Given the description of an element on the screen output the (x, y) to click on. 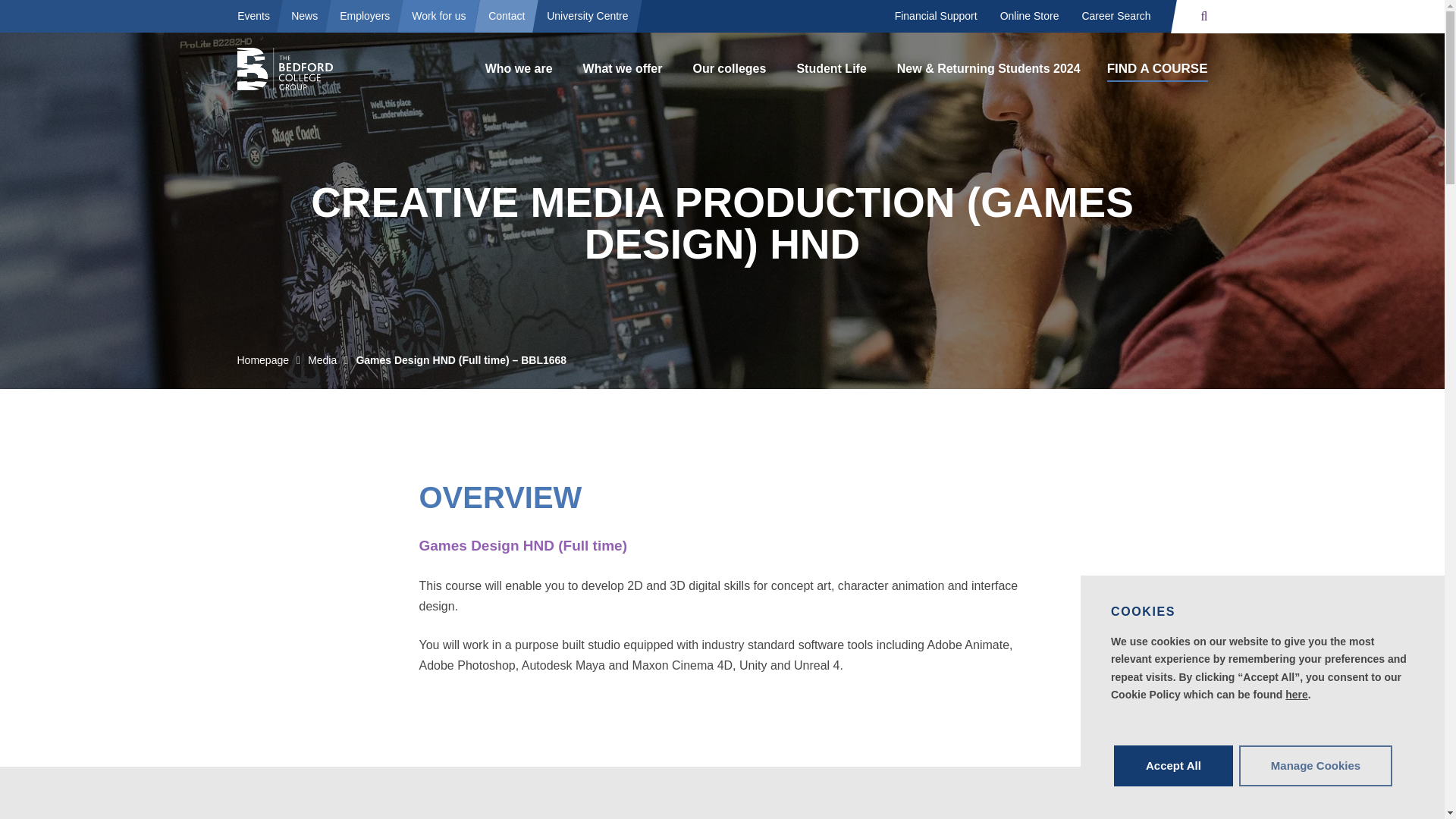
News (304, 15)
What we offer (622, 69)
Online Store (1029, 16)
Work for us (439, 15)
Who we are (518, 69)
Financial Support (935, 16)
Contact (506, 15)
Employers (365, 15)
Career Search (1115, 16)
University Centre (587, 15)
Our colleges (728, 69)
Skip to main content (78, 21)
Events (253, 15)
